Given the description of an element on the screen output the (x, y) to click on. 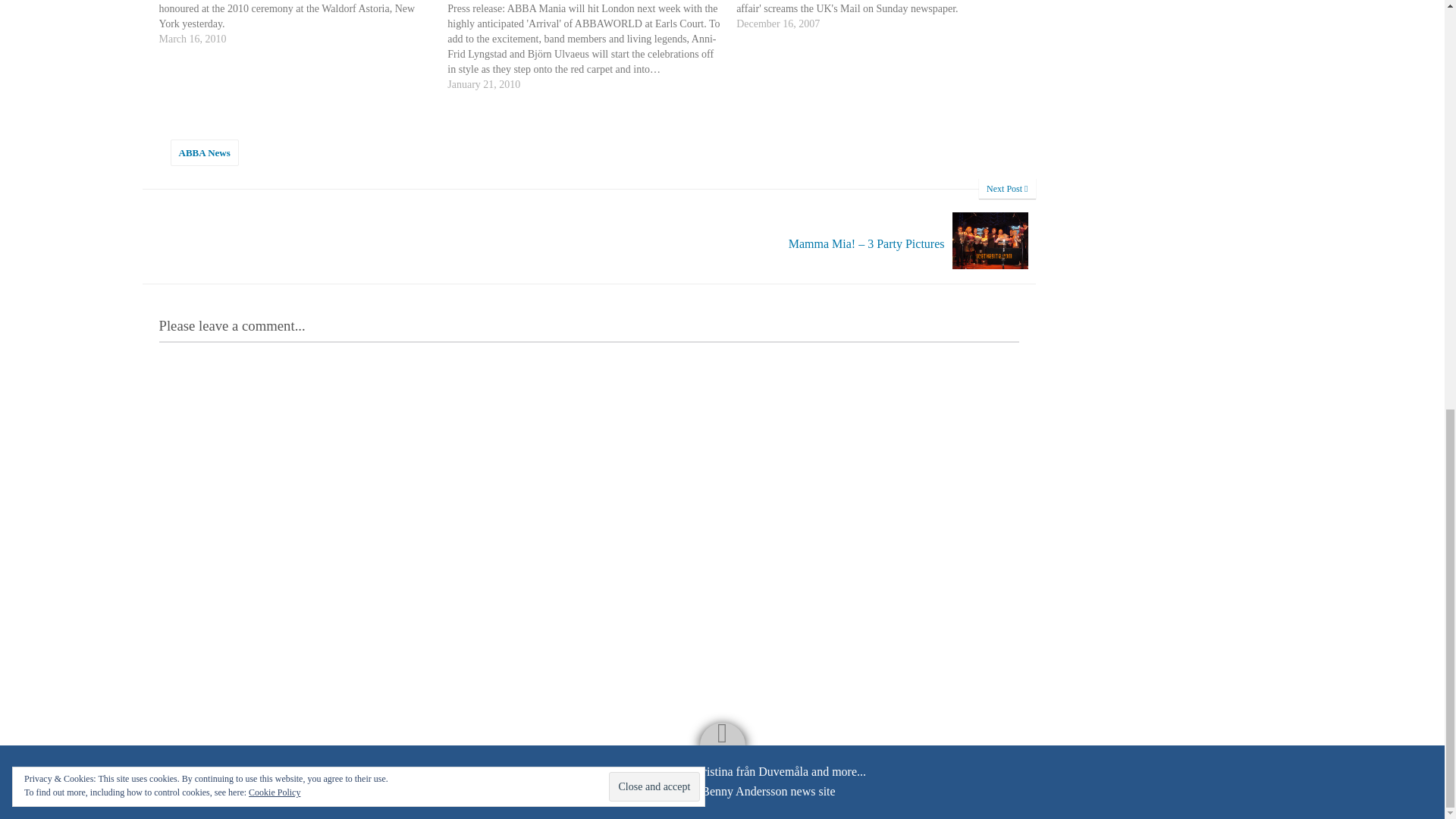
ABBA News (204, 152)
ABBA inducted into Rock and Roll Hall of Fame (303, 23)
Bizarre Frida story hits UK press (880, 15)
icethesite - Benny Andersson news site (739, 791)
